Given the description of an element on the screen output the (x, y) to click on. 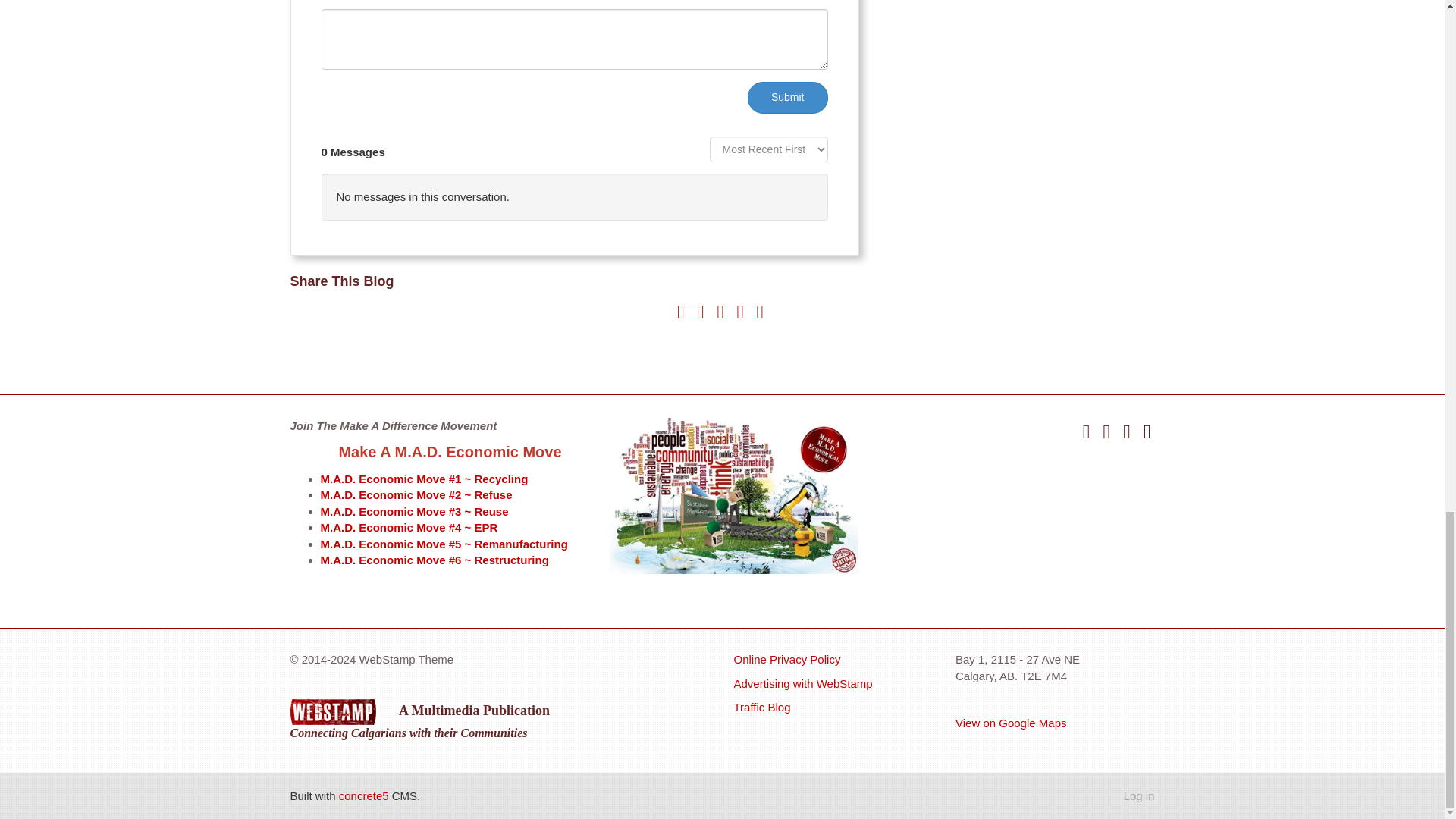
Recycling (500, 478)
Submit (788, 97)
